Given the description of an element on the screen output the (x, y) to click on. 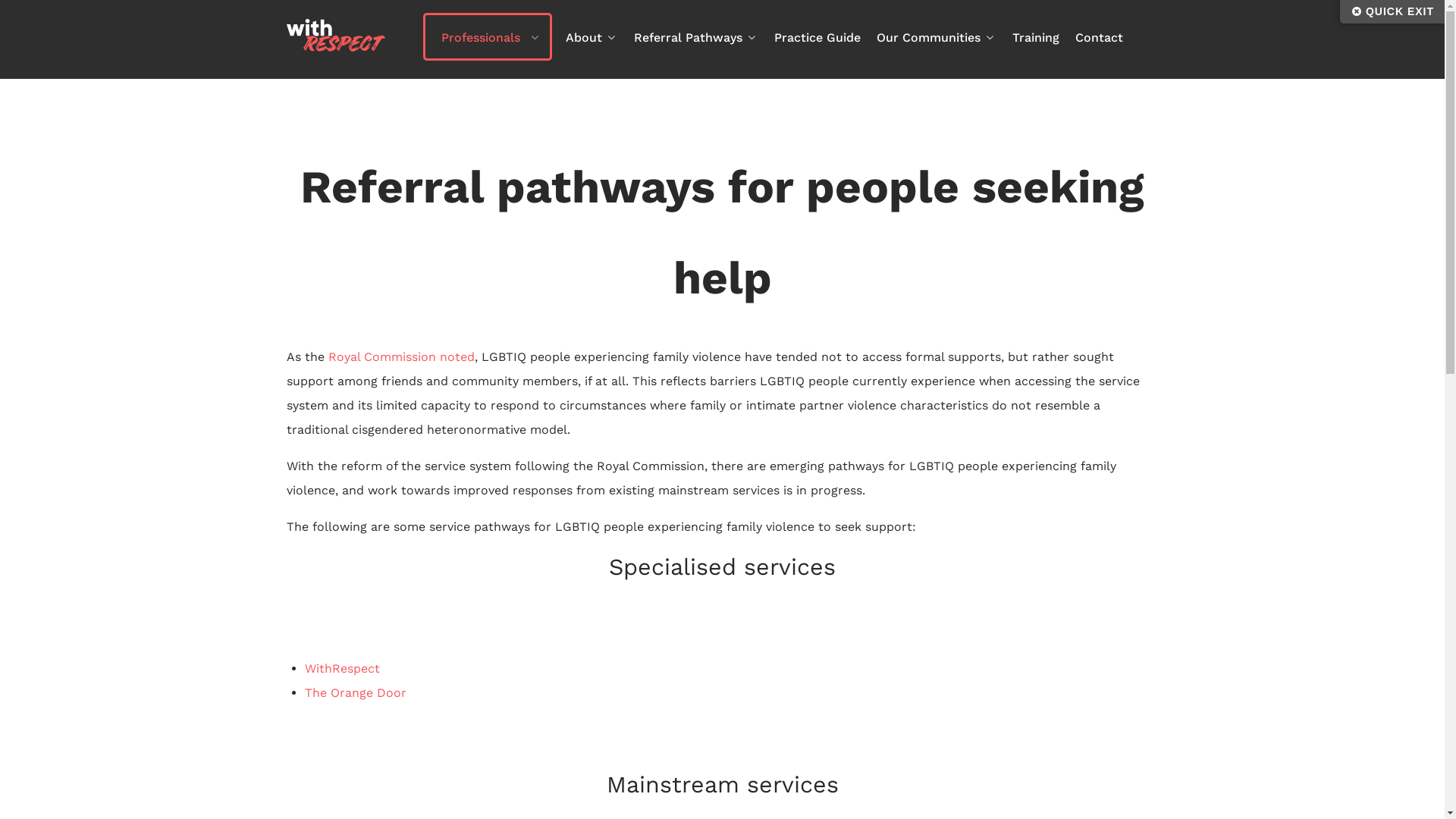
WithRespect Element type: text (341, 668)
About Element type: text (591, 38)
QUICK EXIT Element type: text (1391, 11)
Untitled-1 Element type: text (335, 47)
Training Element type: text (1034, 38)
Practice Guide Element type: text (816, 38)
Referral Pathways Element type: text (695, 38)
The Orange Door Element type: text (355, 692)
Professionals Element type: text (480, 37)
Contact Element type: text (1099, 38)
Our Communities Element type: text (936, 38)
Royal Commission noted Element type: text (400, 356)
